Given the description of an element on the screen output the (x, y) to click on. 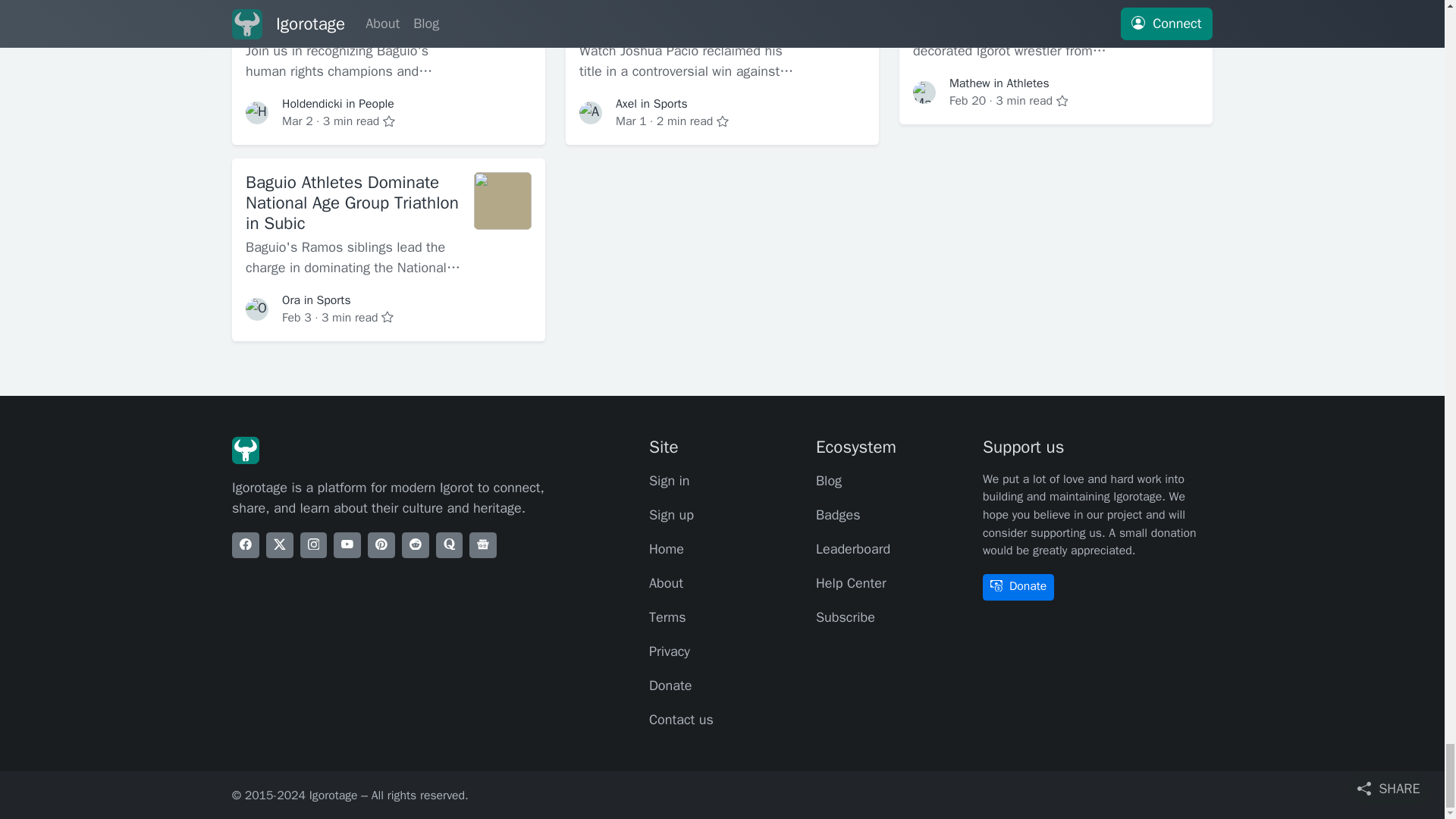
Follow us on Instagram (313, 545)
Find us on Facebook (245, 545)
Follow us on Twitter (280, 545)
